Given the description of an element on the screen output the (x, y) to click on. 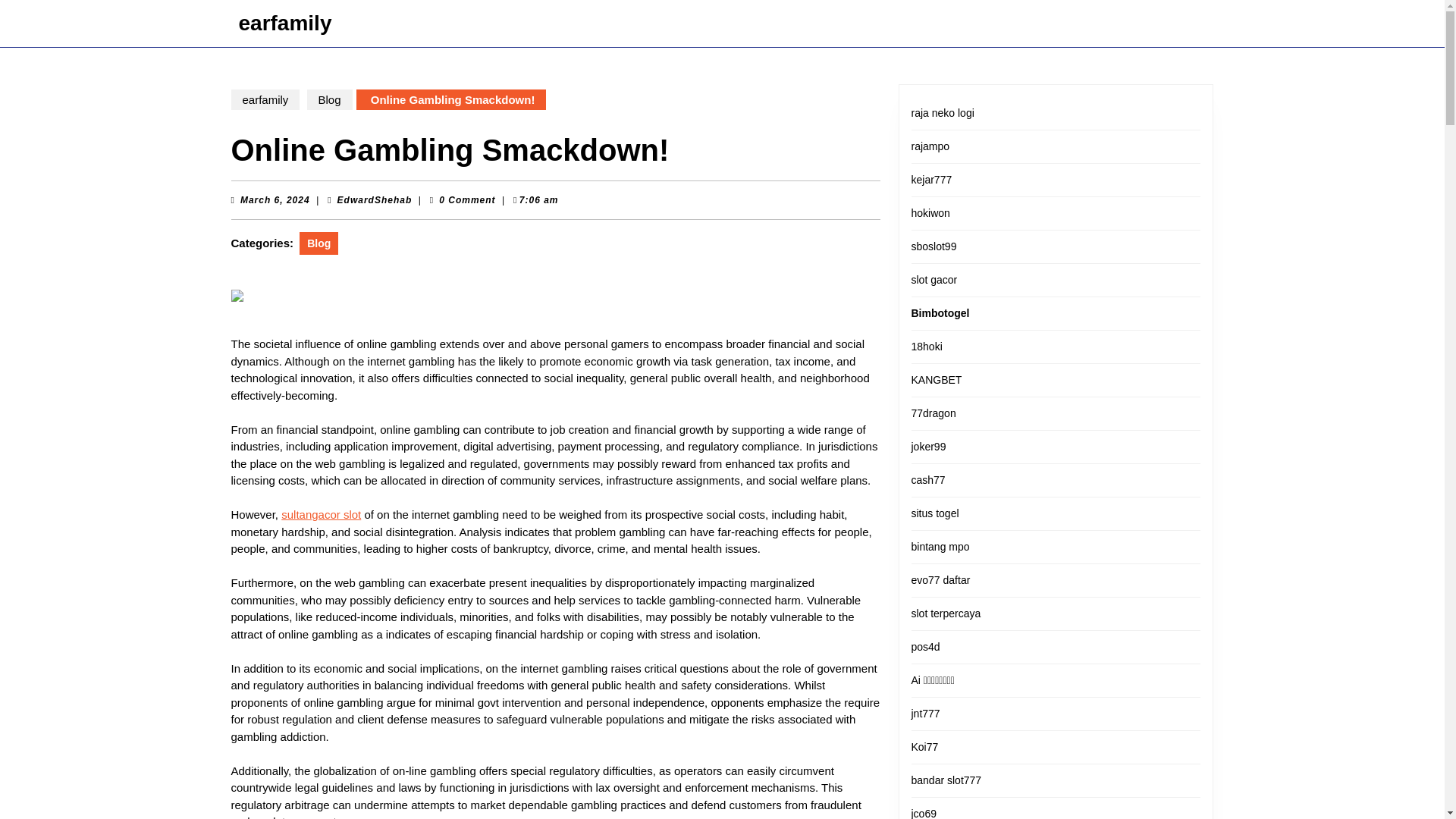
situs togel (935, 512)
slot gacor (934, 279)
raja neko logi (942, 112)
earfamily (264, 99)
hokiwon (930, 213)
pos4d (925, 646)
77dragon (933, 413)
Blog (329, 99)
sboslot99 (933, 246)
evo77 daftar (941, 580)
rajampo (930, 146)
earfamily (284, 23)
Koi77 (925, 746)
slot terpercaya (946, 613)
